Given the description of an element on the screen output the (x, y) to click on. 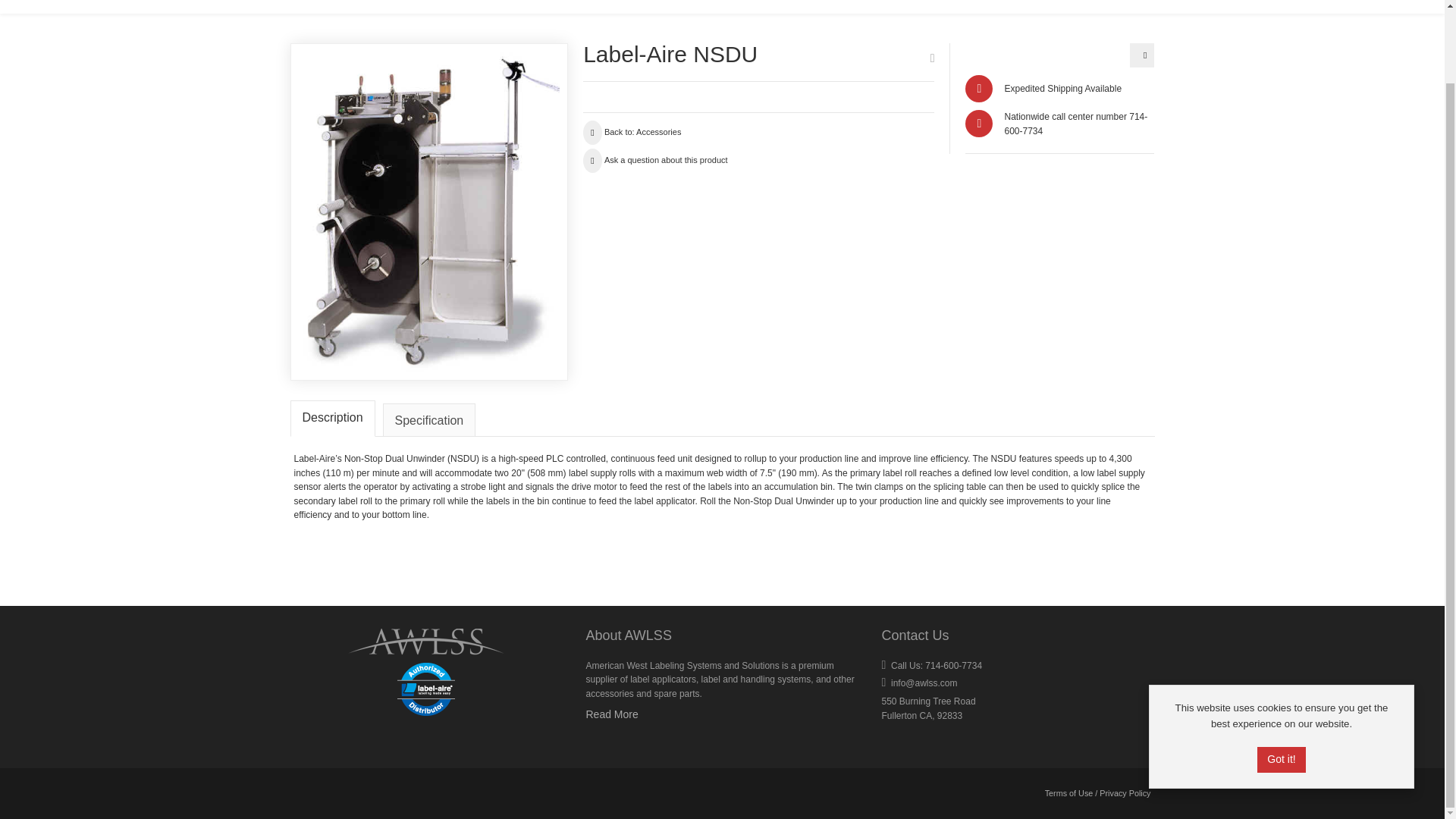
Ask a question about this product (654, 160)
 Back to: Accessories (632, 132)
Read More (611, 714)
Got it! (1280, 678)
 Ask a question about this product (654, 160)
Description (331, 418)
Accessories (632, 132)
Label-Aire ASDU Binbox (1141, 55)
Specification (429, 420)
